Given the description of an element on the screen output the (x, y) to click on. 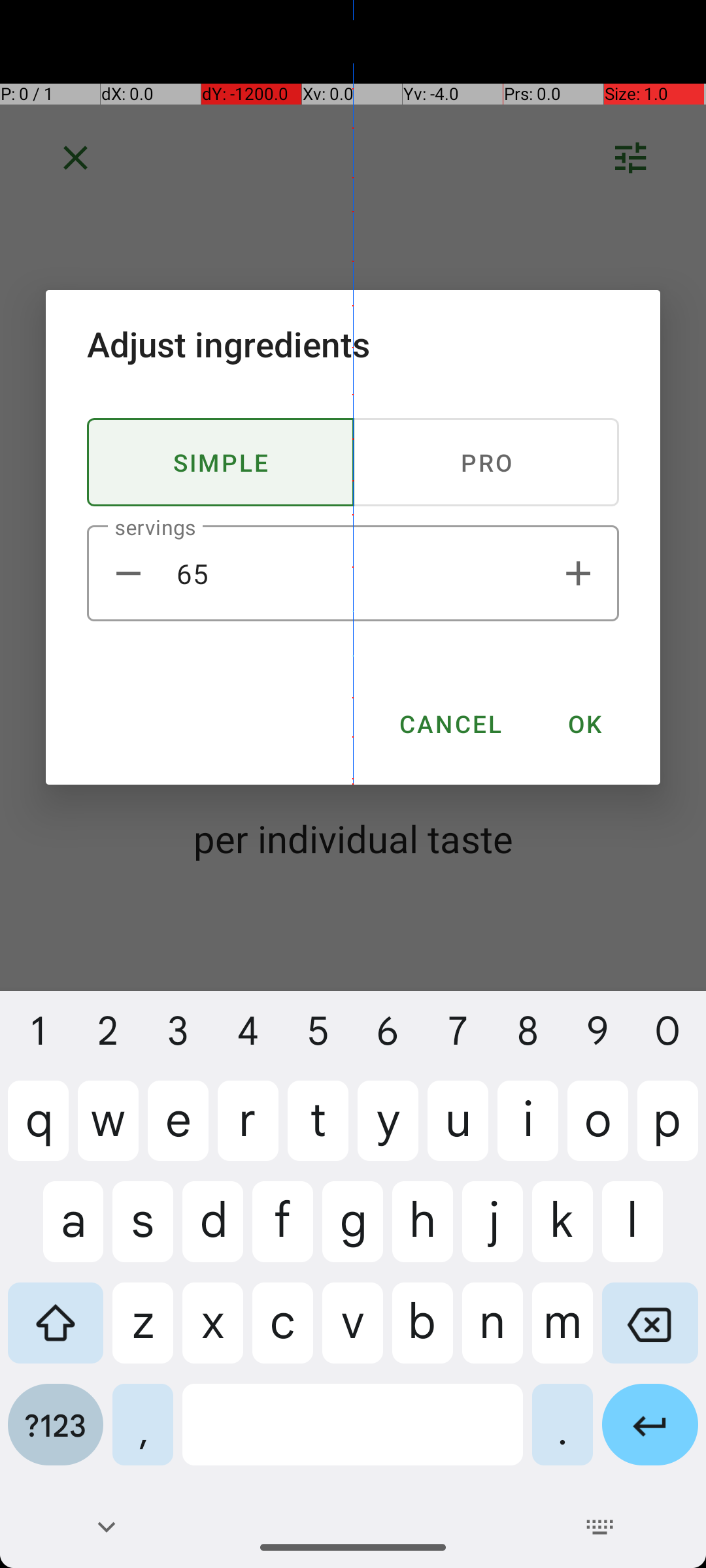
65 Element type: android.widget.EditText (352, 573)
